Given the description of an element on the screen output the (x, y) to click on. 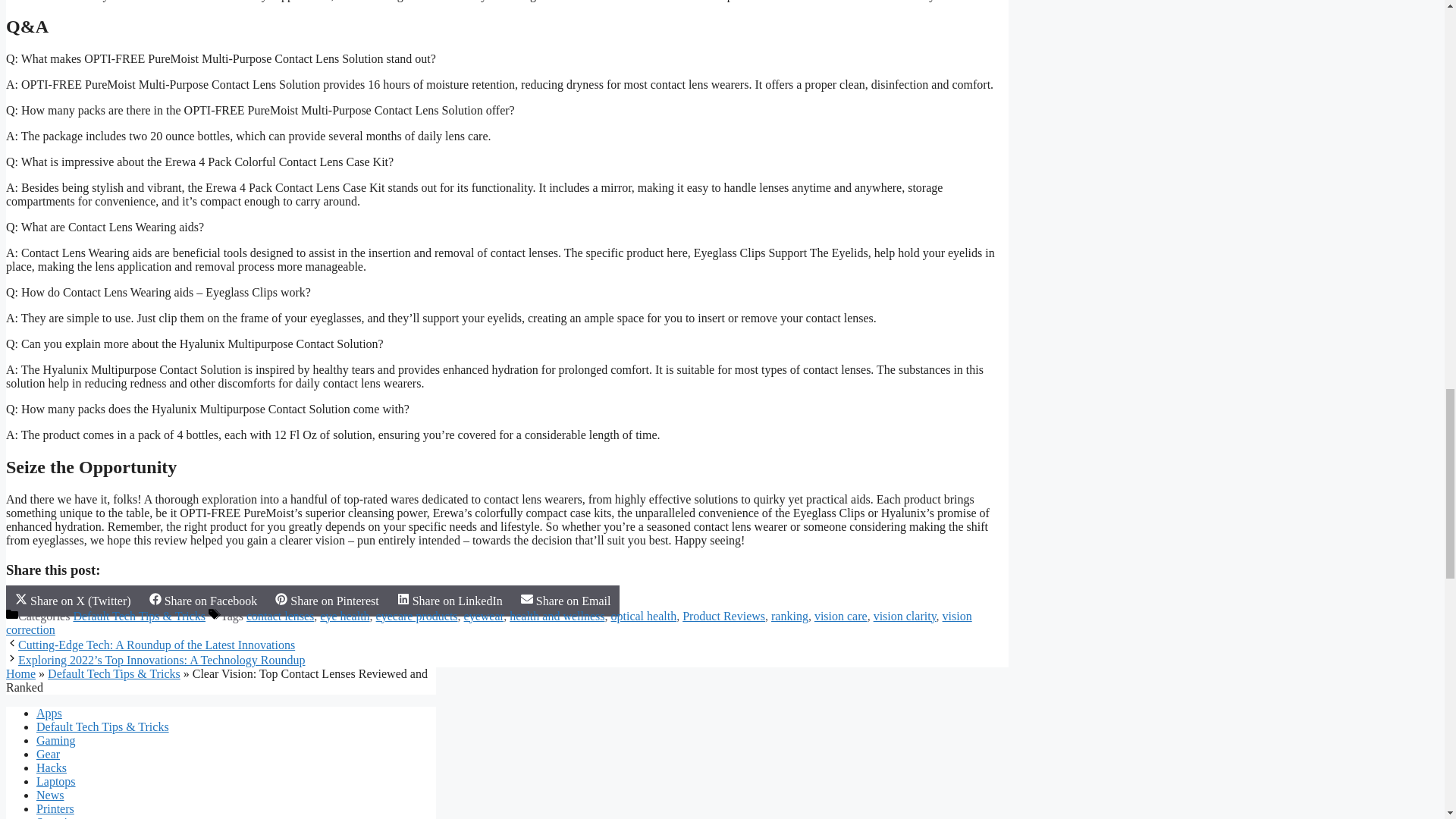
eyecare products (416, 615)
contact lenses (280, 615)
eyewear (483, 615)
eye health (344, 615)
health and wellness (556, 615)
Share on Email (566, 600)
ranking (789, 615)
optical health (644, 615)
vision care (840, 615)
Home (19, 673)
Share on Facebook (202, 600)
Product Reviews (723, 615)
Share on Pinterest (326, 600)
Share on LinkedIn (450, 600)
